Given the description of an element on the screen output the (x, y) to click on. 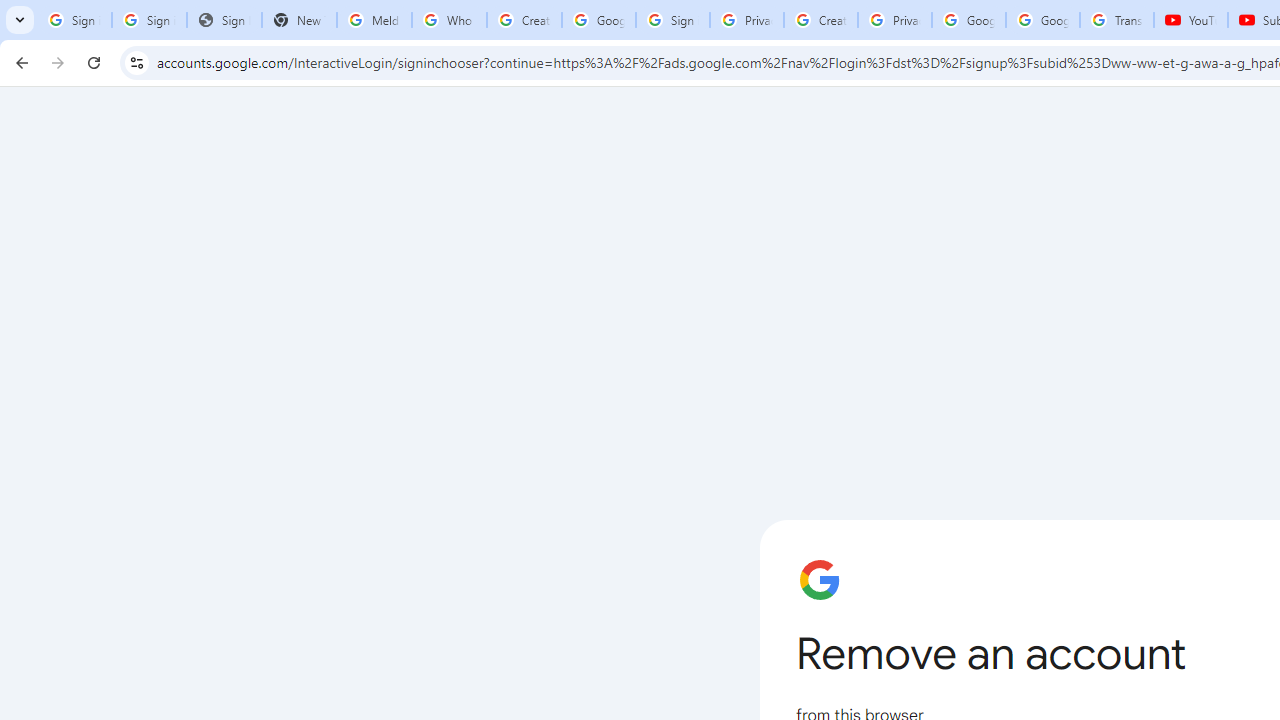
Create your Google Account (523, 20)
Sign in - Google Accounts (673, 20)
New Tab (299, 20)
Sign in - Google Accounts (148, 20)
YouTube (1190, 20)
Google Account (1043, 20)
